Given the description of an element on the screen output the (x, y) to click on. 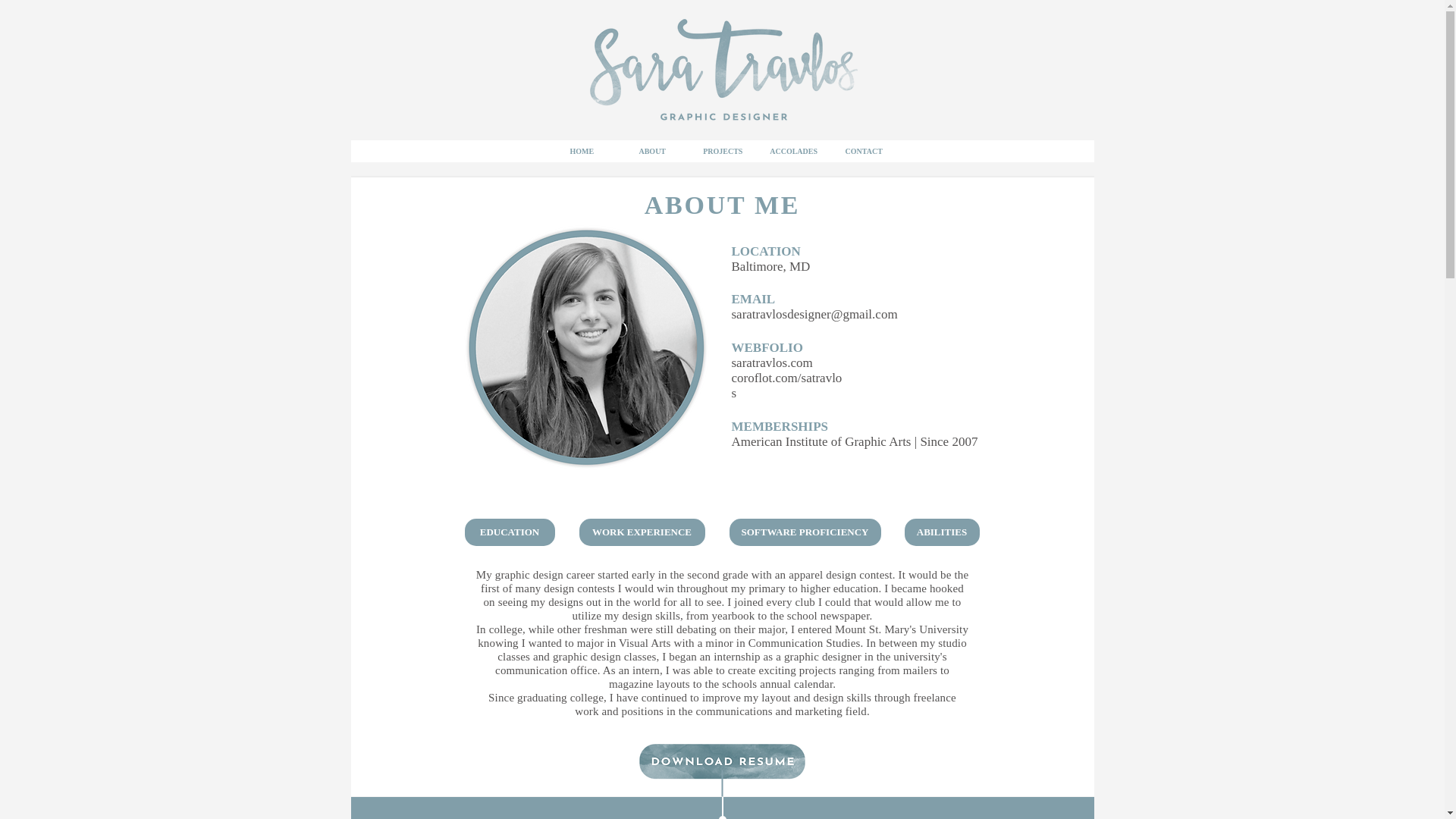
CONTACT (863, 151)
EDUCATION (509, 532)
WORK EXPERIENCE (641, 532)
ABOUT (651, 151)
ACCOLADES (792, 151)
SOFTWARE PROFICIENCY (804, 532)
HOME (580, 151)
PROJECTS (722, 151)
ABILITIES (941, 532)
